Given the description of an element on the screen output the (x, y) to click on. 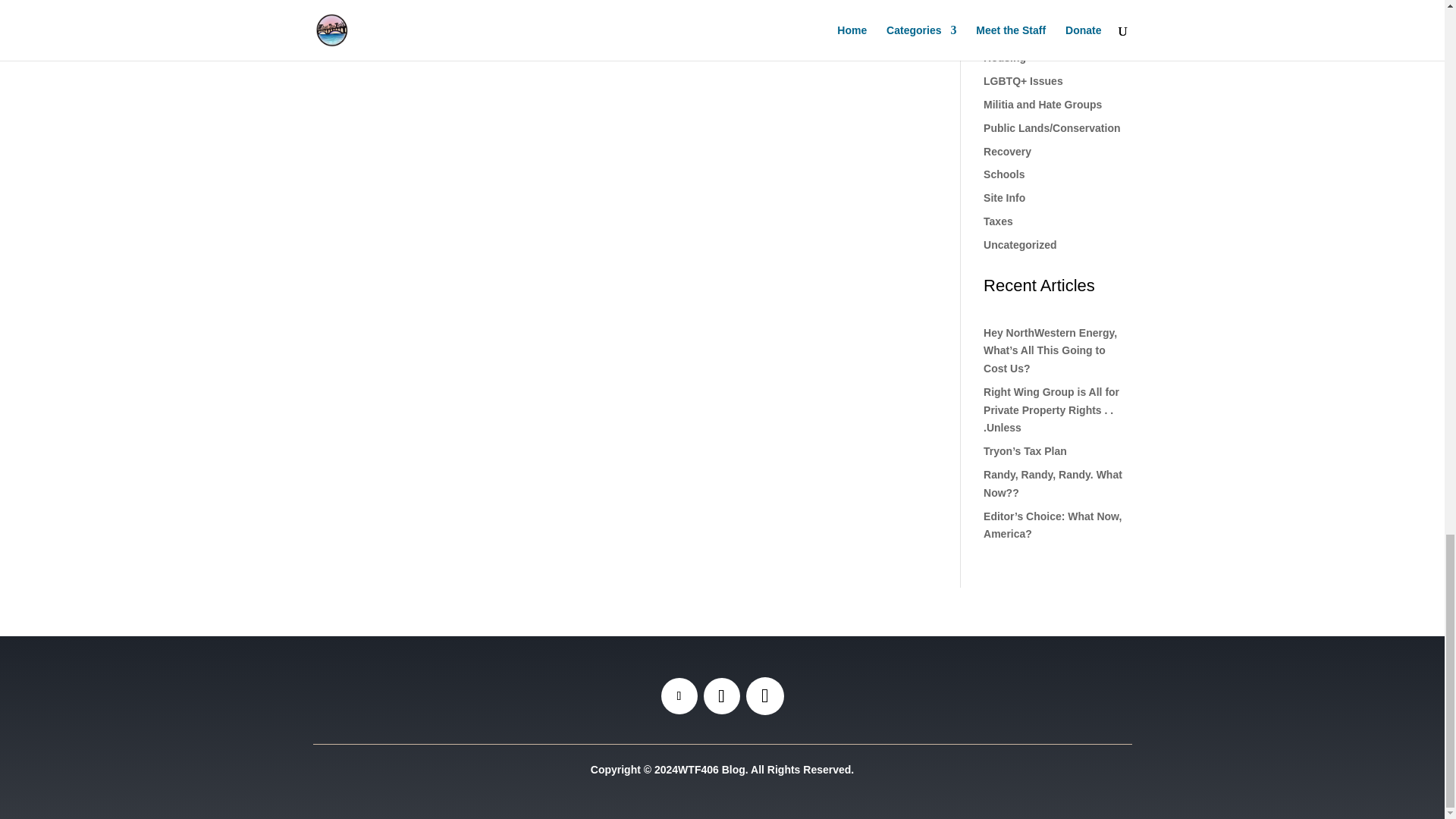
Follow on TikTok (764, 695)
Follow on Instagram (721, 696)
Follow on Facebook (679, 696)
